Given the description of an element on the screen output the (x, y) to click on. 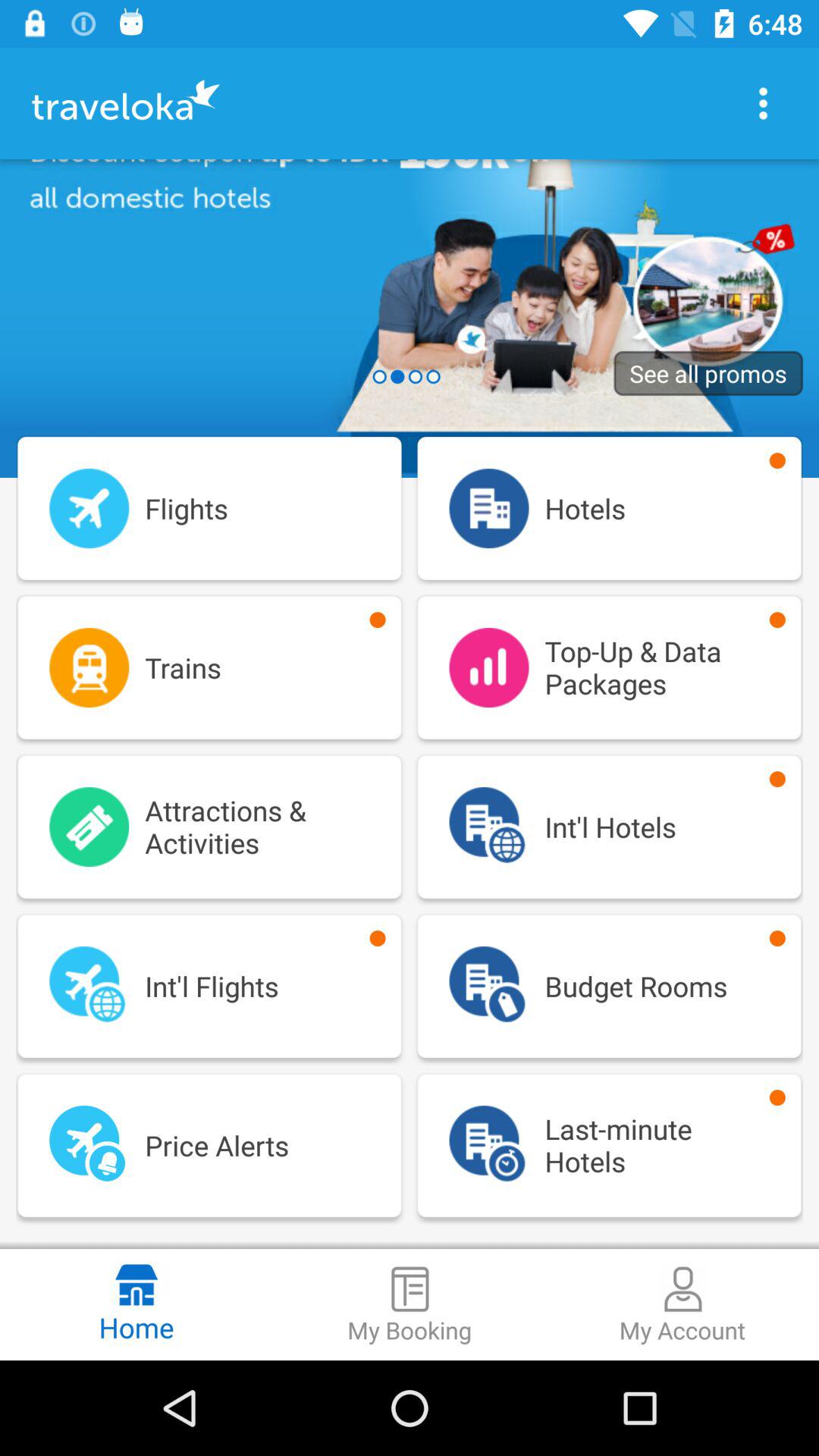
view options (763, 103)
